Given the description of an element on the screen output the (x, y) to click on. 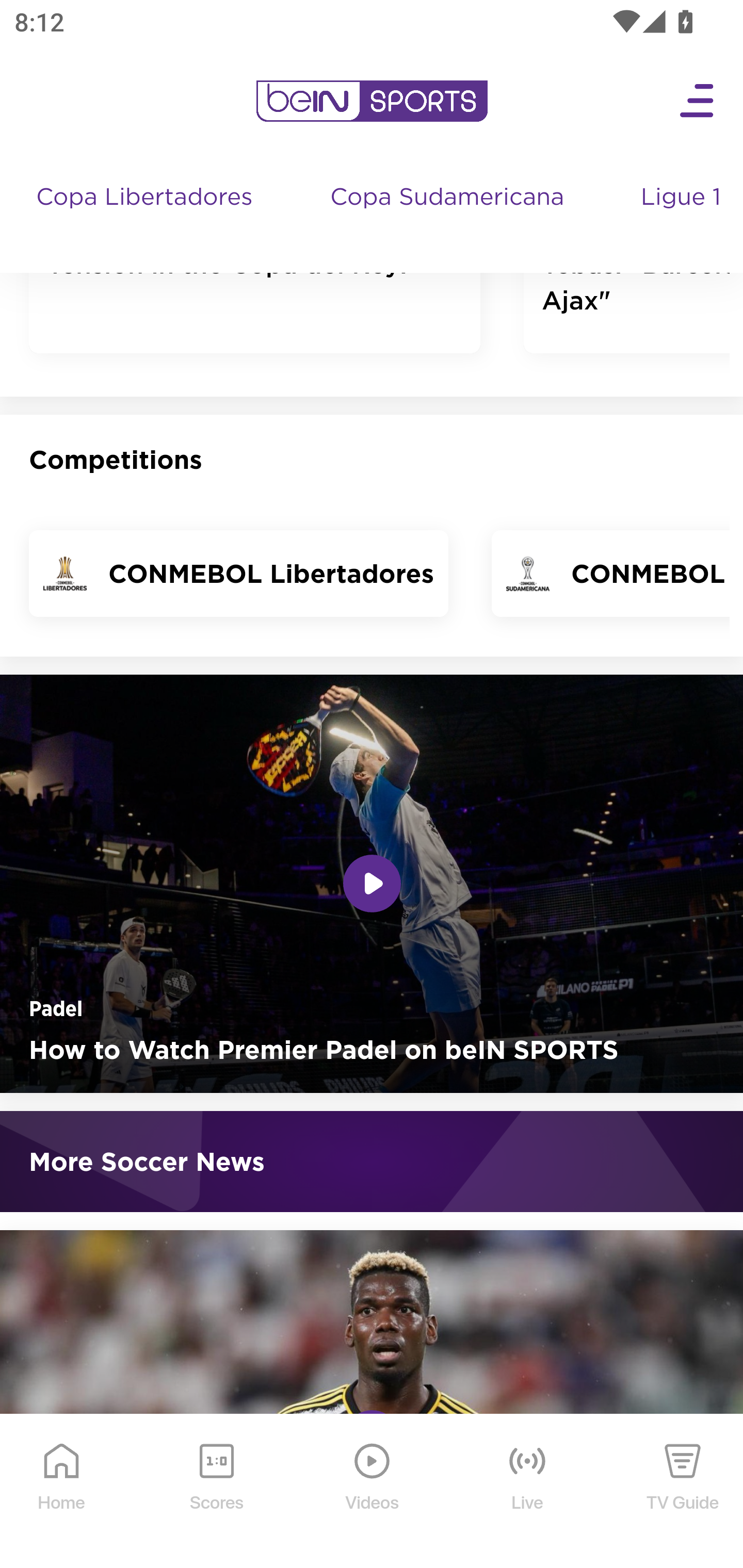
en-us?platform=mobile_android bein logo (371, 101)
Open Menu Icon (697, 101)
Copa Libertadores (146, 216)
Copa Sudamericana (448, 216)
Ligue 1 (682, 216)
Home Home Icon Home (61, 1491)
Scores Scores Icon Scores (216, 1491)
Videos Videos Icon Videos (372, 1491)
TV Guide TV Guide Icon TV Guide (682, 1491)
